Given the description of an element on the screen output the (x, y) to click on. 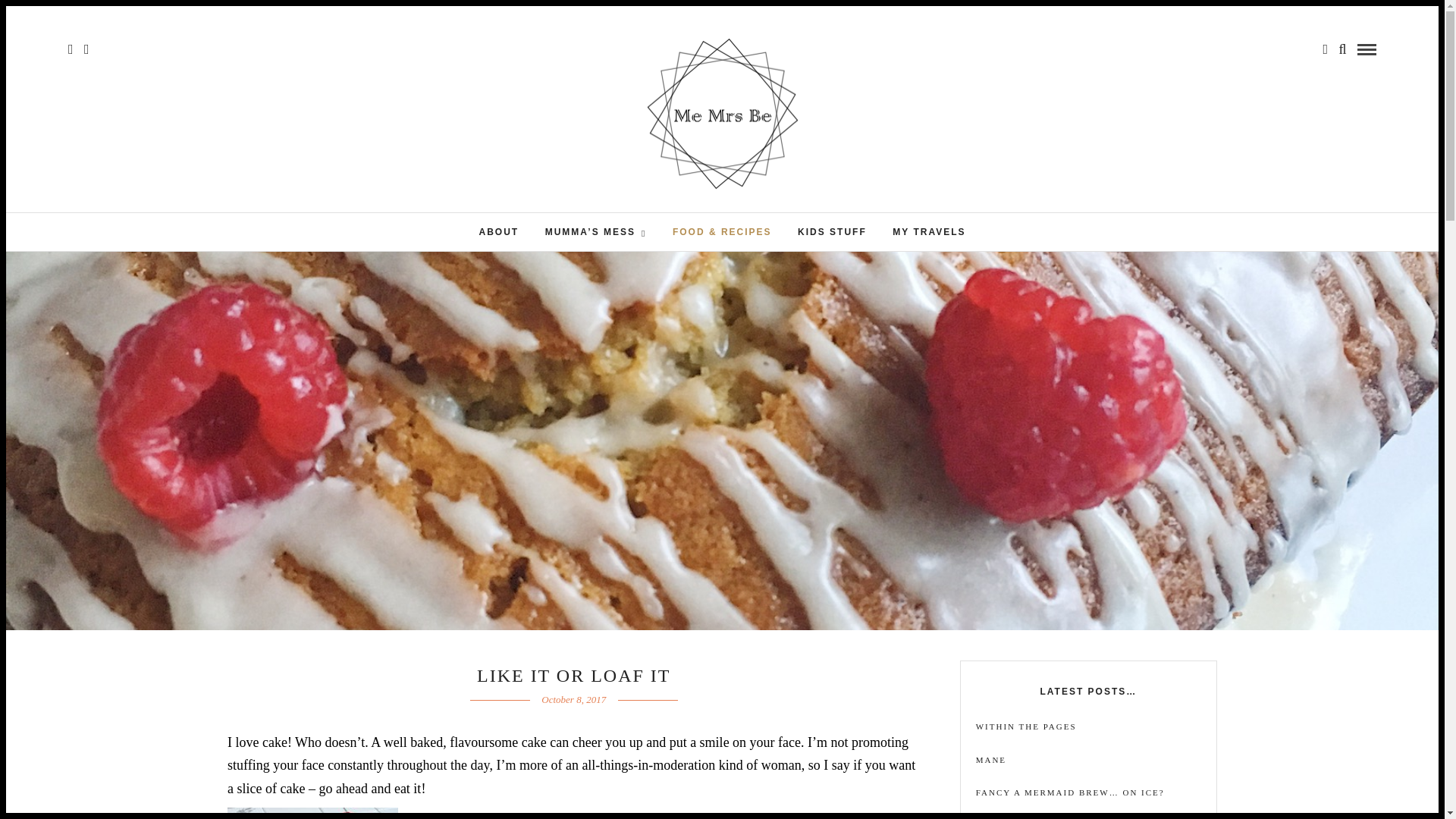
ABOUT (498, 231)
MANE (1088, 759)
KIDS STUFF (831, 231)
MY TRAVELS (928, 231)
WITHIN THE PAGES (1088, 726)
